Given the description of an element on the screen output the (x, y) to click on. 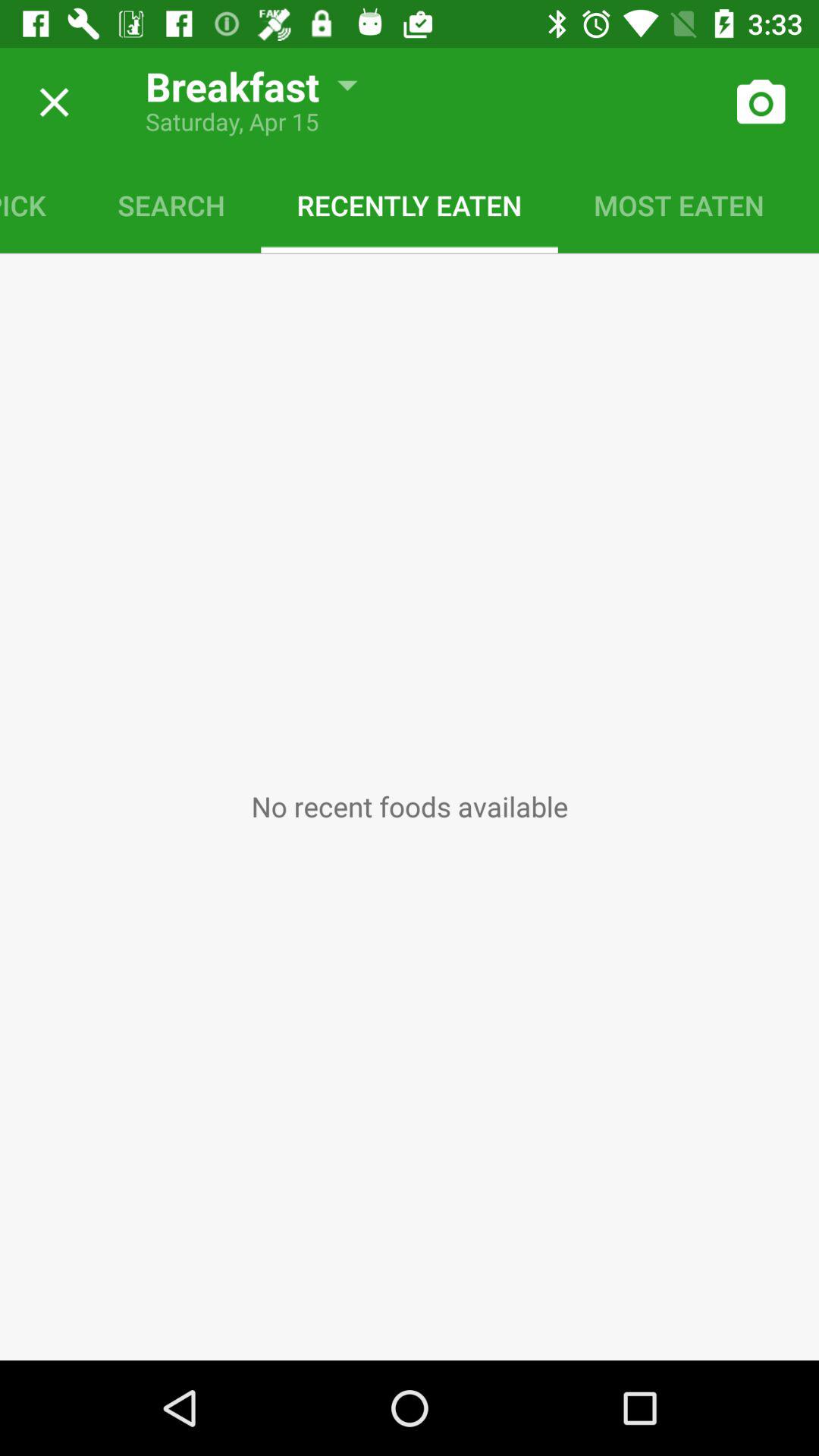
select the quick pick (40, 205)
